Given the description of an element on the screen output the (x, y) to click on. 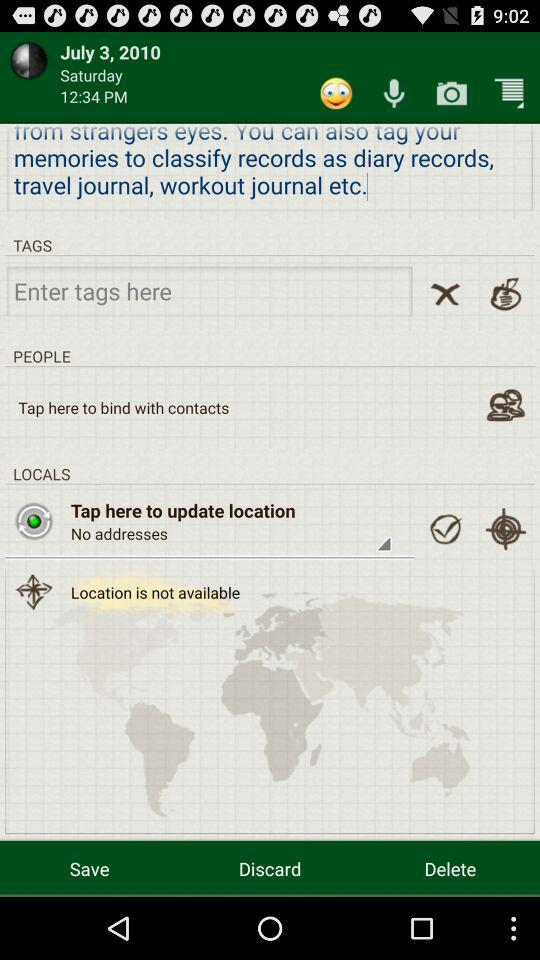
turn on delete (450, 868)
